Given the description of an element on the screen output the (x, y) to click on. 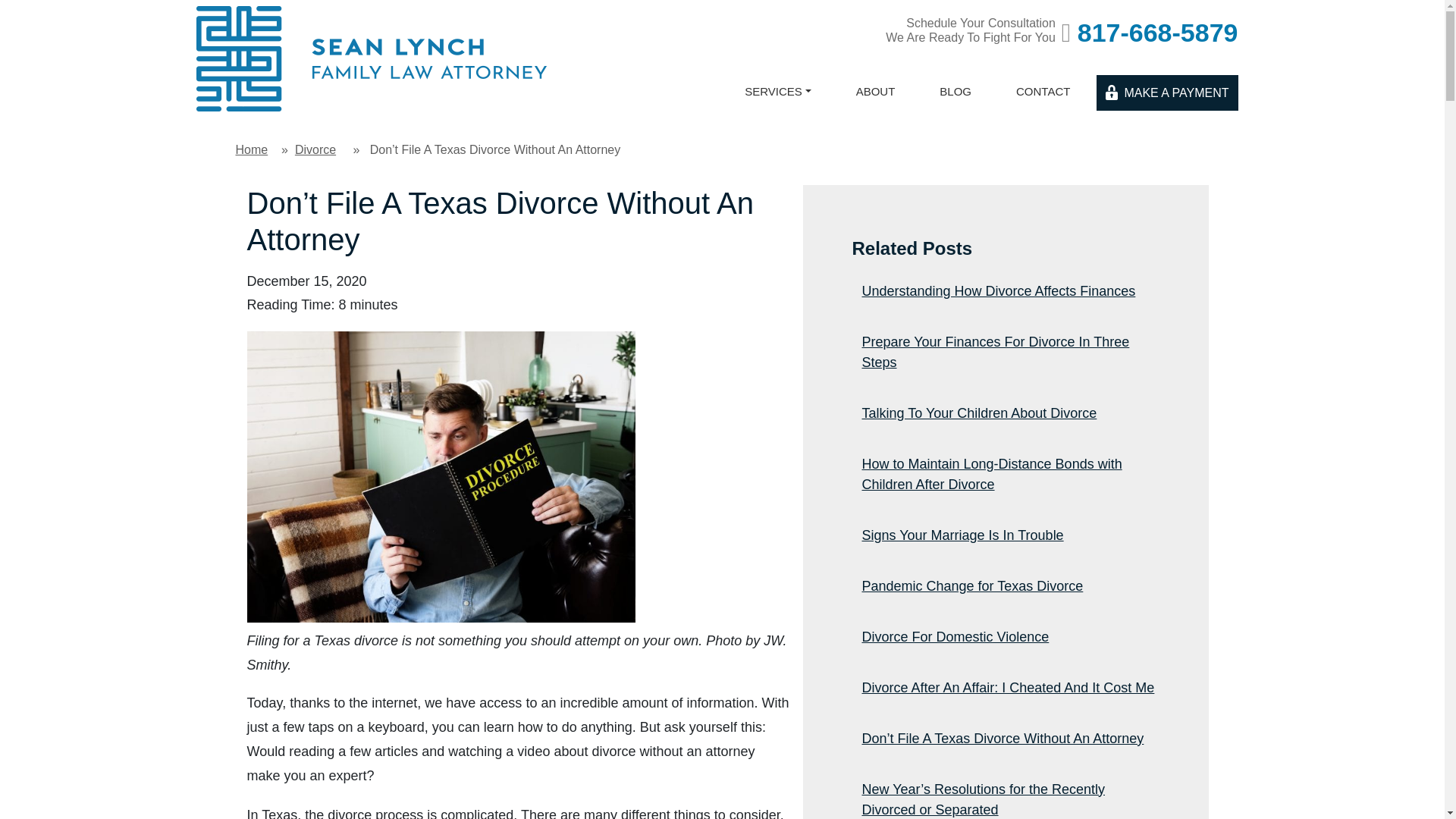
Divorce (315, 148)
CONTACT (1043, 102)
 817-668-5879 (1150, 32)
Contact (1043, 102)
ABOUT (875, 102)
Services (777, 102)
MAKE A PAYMENT (1166, 92)
SERVICES (777, 102)
Home (250, 148)
About (875, 102)
